Given the description of an element on the screen output the (x, y) to click on. 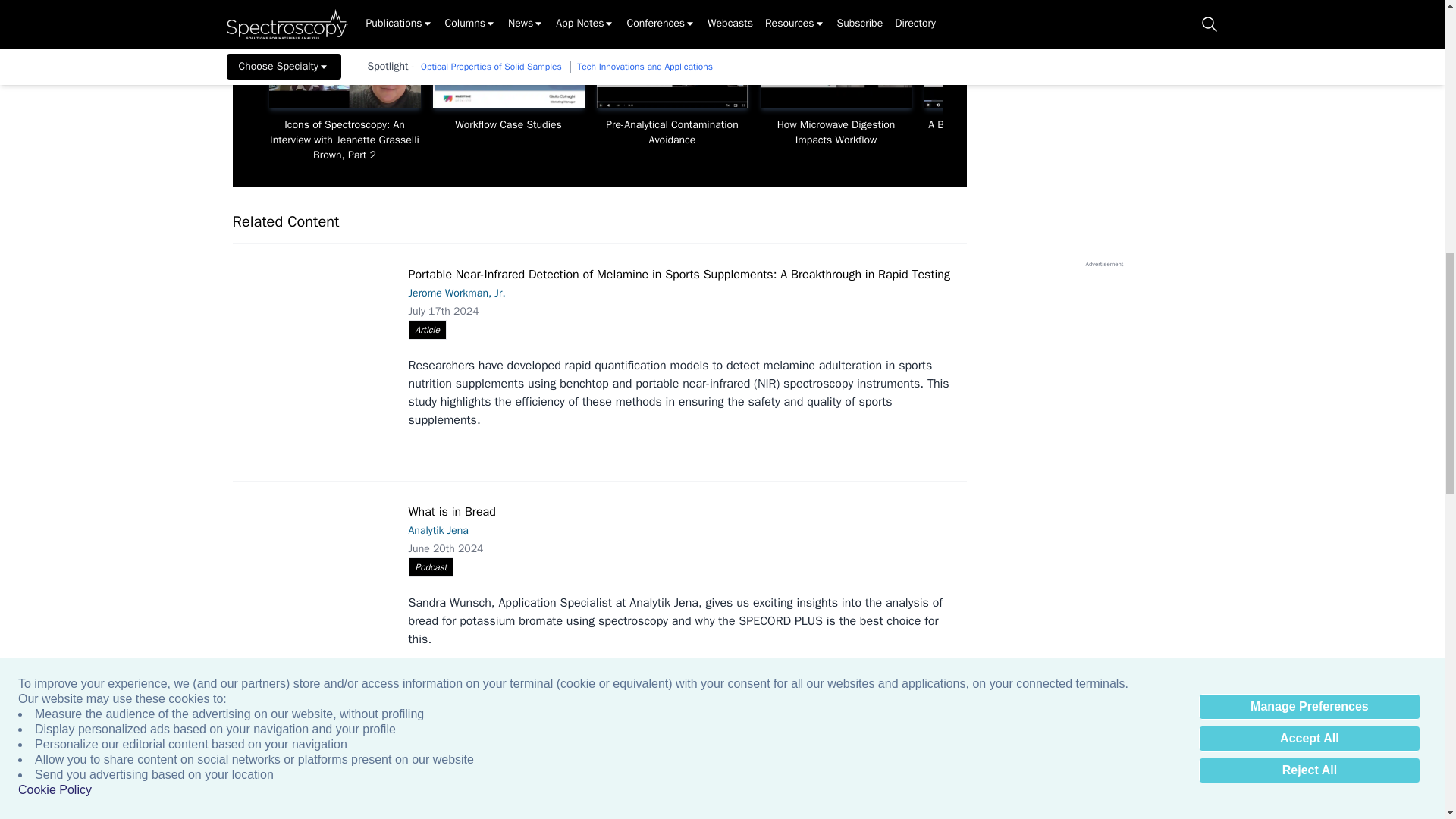
Pre-Analytical Contamination Avoidance (671, 65)
A Better Way to Clean Labware (999, 65)
Workflow Case Studies (507, 65)
Innovating ICP-MS with a Modernized Experience (1163, 65)
How Microwave Digestion Impacts Workflow (835, 65)
